Given the description of an element on the screen output the (x, y) to click on. 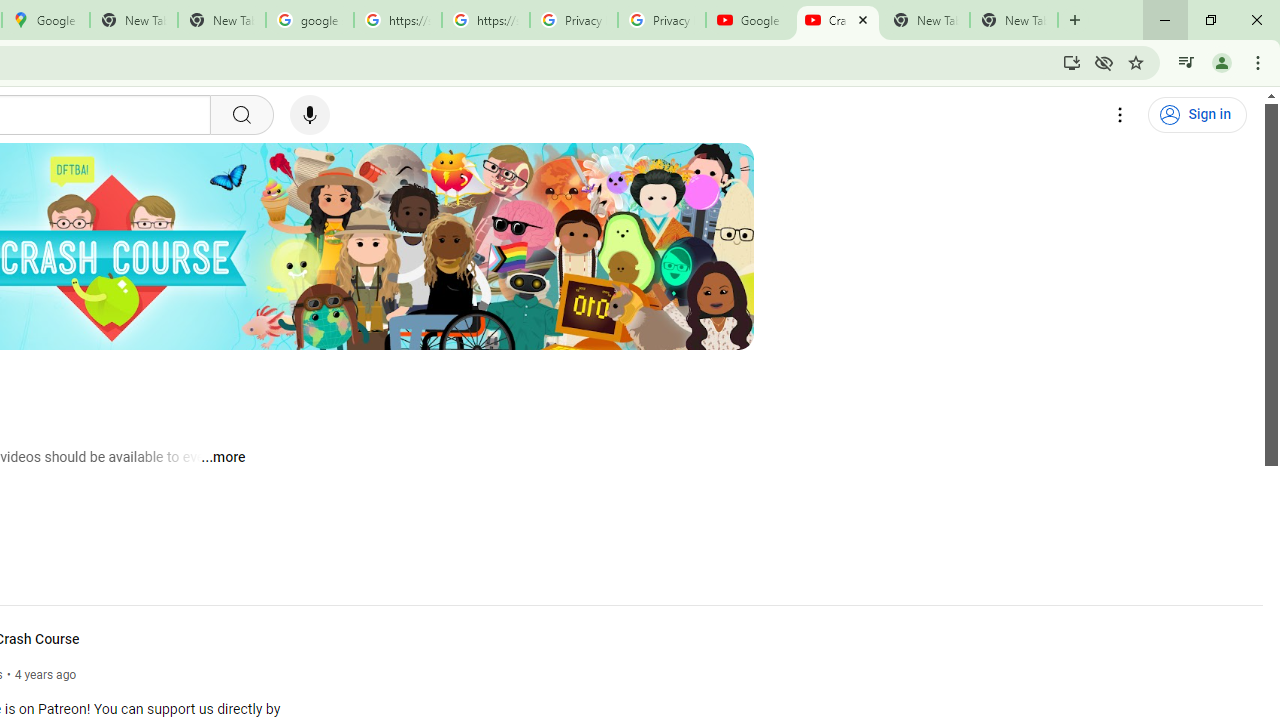
Chrome (1260, 62)
Third-party cookies blocked (1103, 62)
Control your music, videos, and more (1185, 62)
https://scholar.google.com/ (397, 20)
Google - YouTube (749, 20)
Minimize (1165, 20)
https://scholar.google.com/ (485, 20)
Search with your voice (309, 115)
Settings (1119, 115)
Bookmark this tab (1135, 62)
Install YouTube (1071, 62)
Restore (1210, 20)
CrashCourse - YouTube (837, 20)
